Given the description of an element on the screen output the (x, y) to click on. 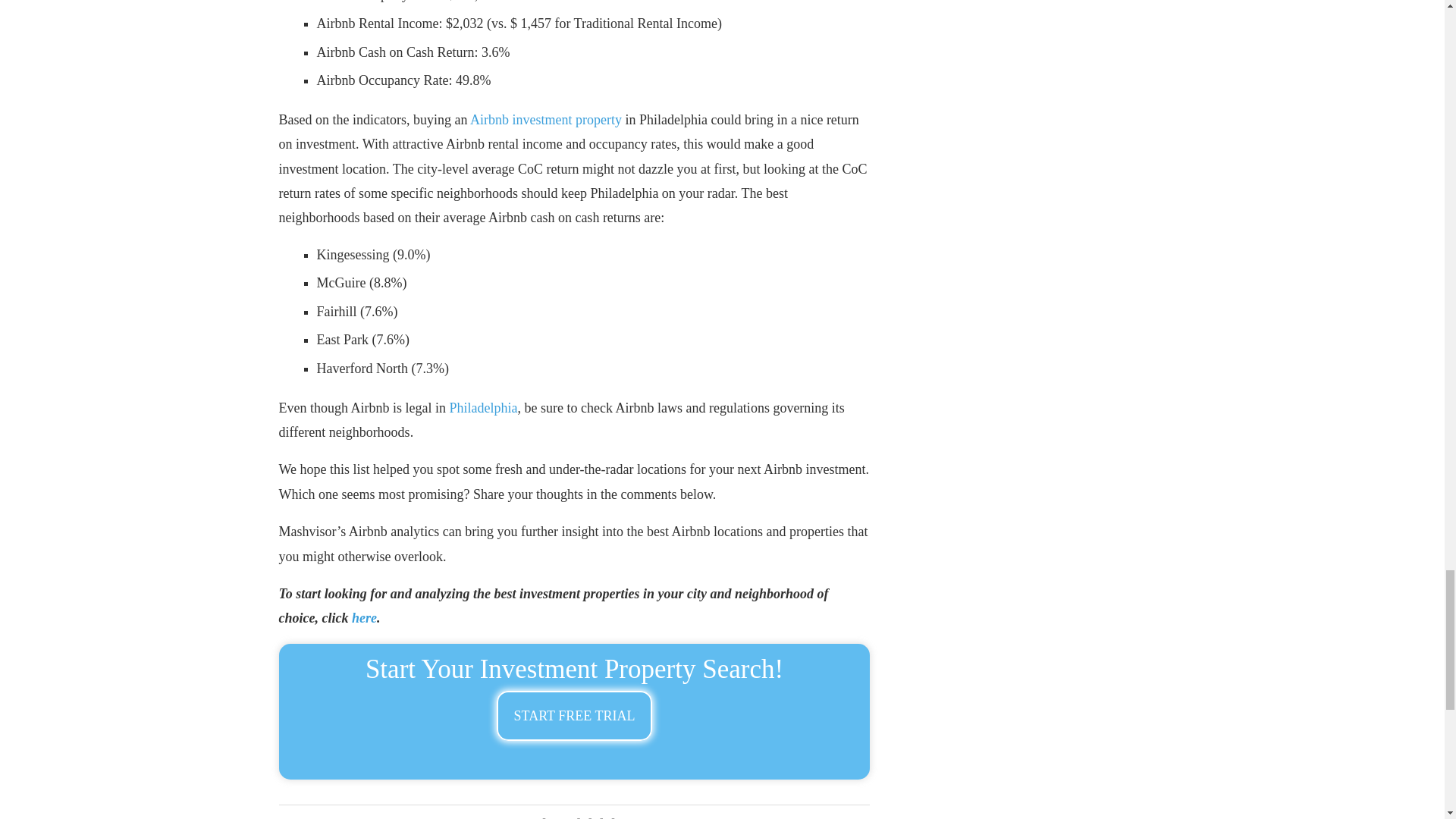
Philadelphia (482, 407)
Airbnb investment property (545, 119)
Like (553, 817)
